Given the description of an element on the screen output the (x, y) to click on. 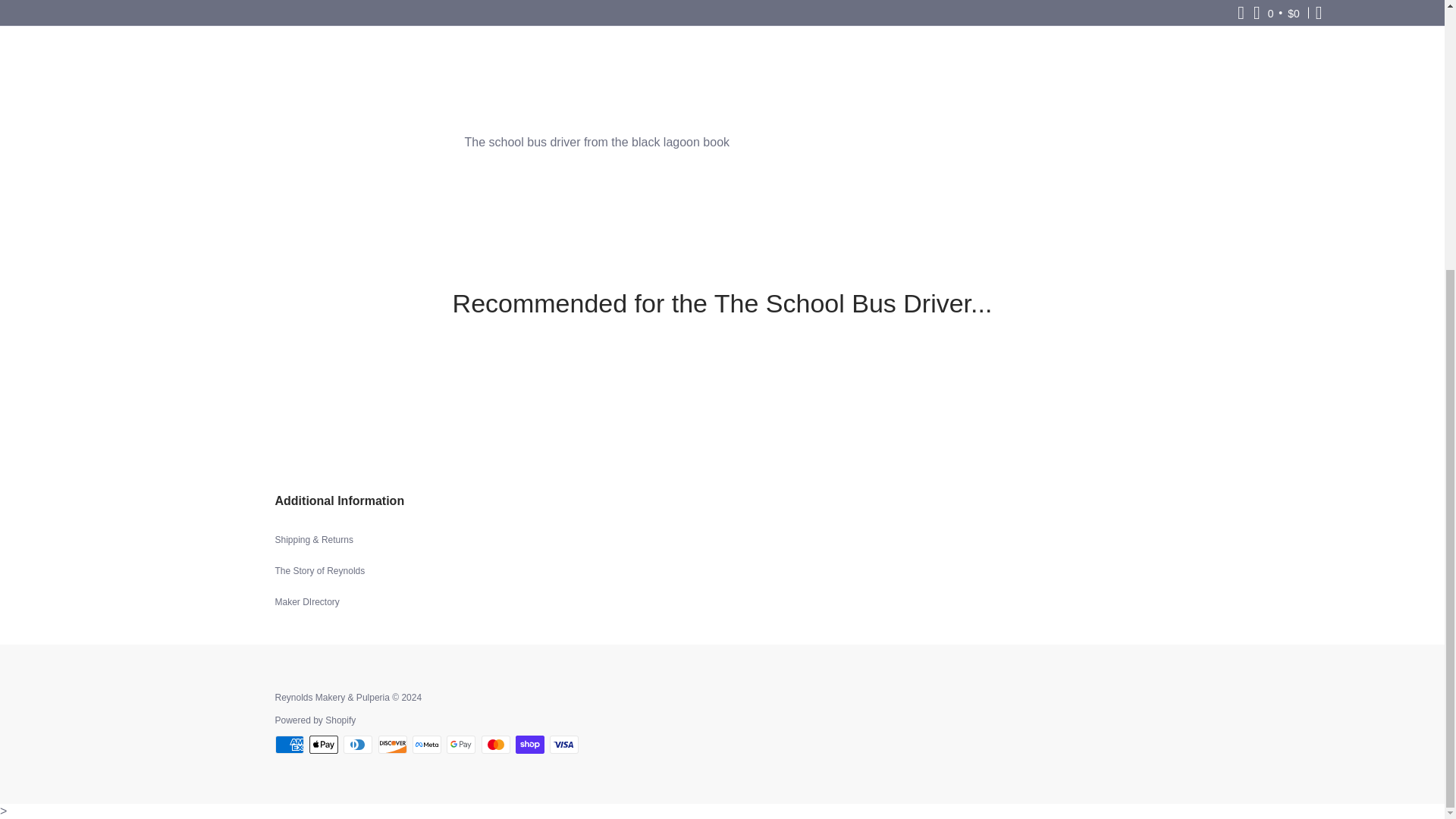
Shop Pay (529, 744)
Apple Pay (322, 744)
American Express (288, 744)
Google Pay (461, 744)
Diners Club (357, 744)
Mastercard (496, 744)
Discover (392, 744)
Visa (564, 744)
Meta Pay (426, 744)
Add to Cart (722, 10)
